Given the description of an element on the screen output the (x, y) to click on. 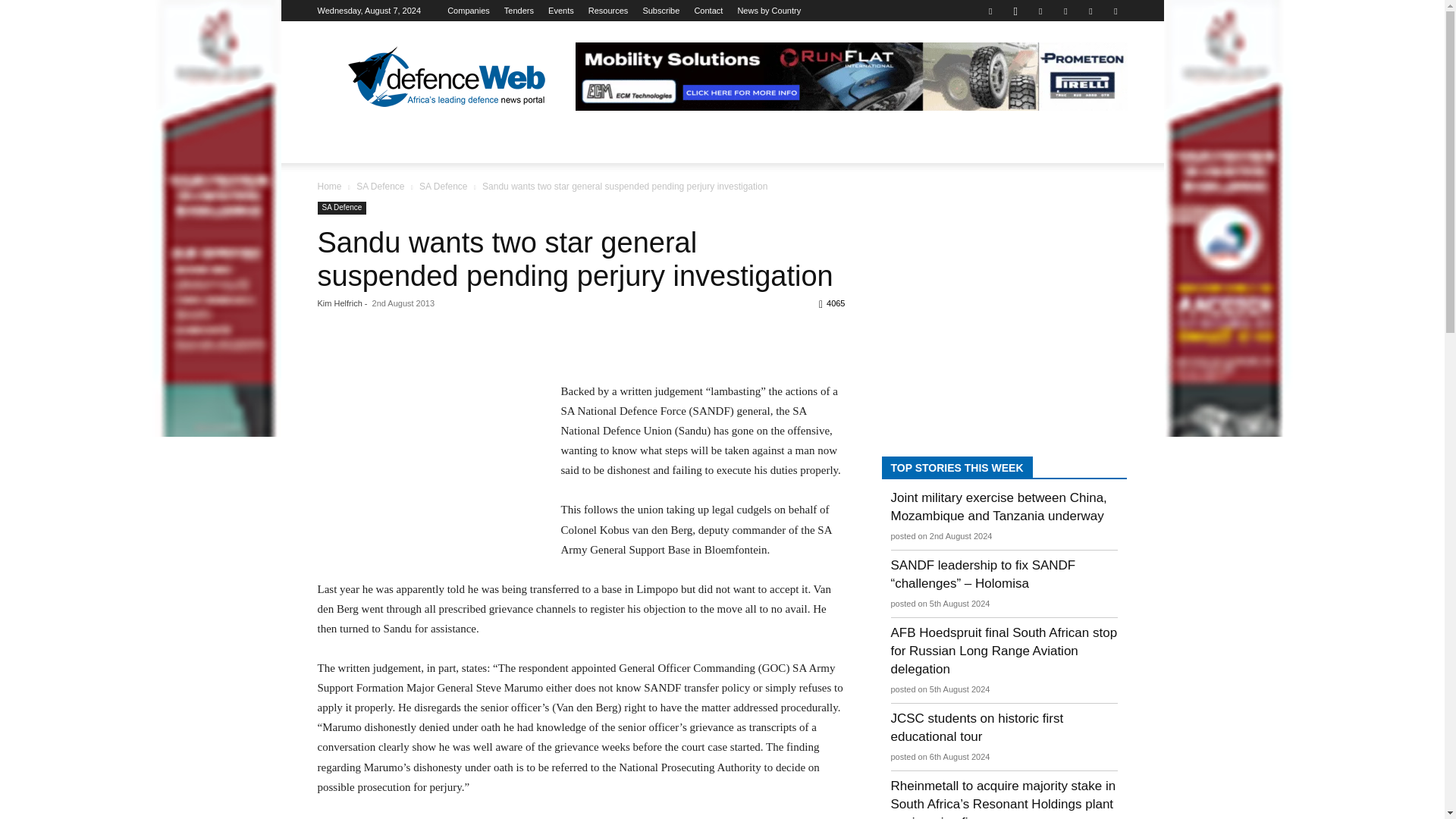
Youtube (1114, 10)
Facebook (989, 10)
Twitter (1090, 10)
Mail (1065, 10)
Linkedin (1040, 10)
Instagram (1015, 10)
